Given the description of an element on the screen output the (x, y) to click on. 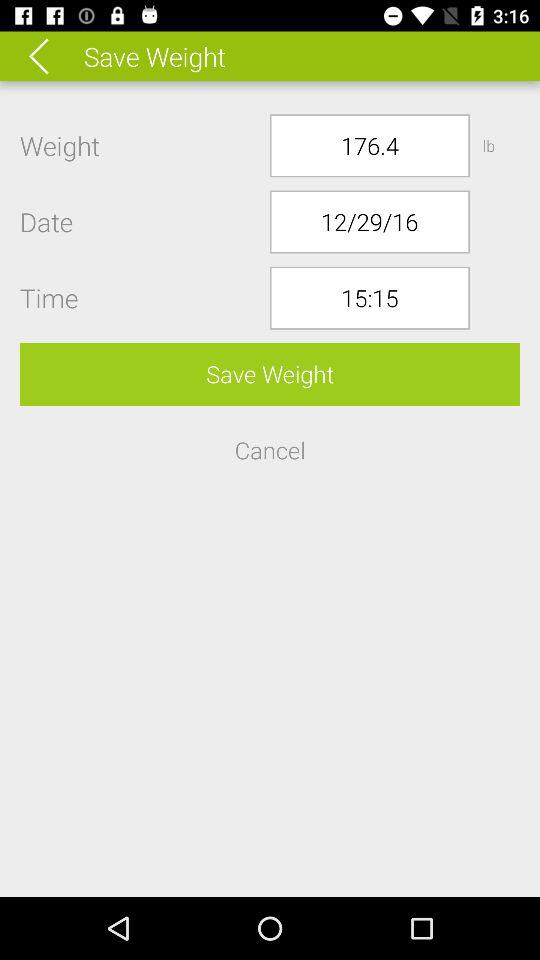
jump until 15:15 (369, 297)
